Given the description of an element on the screen output the (x, y) to click on. 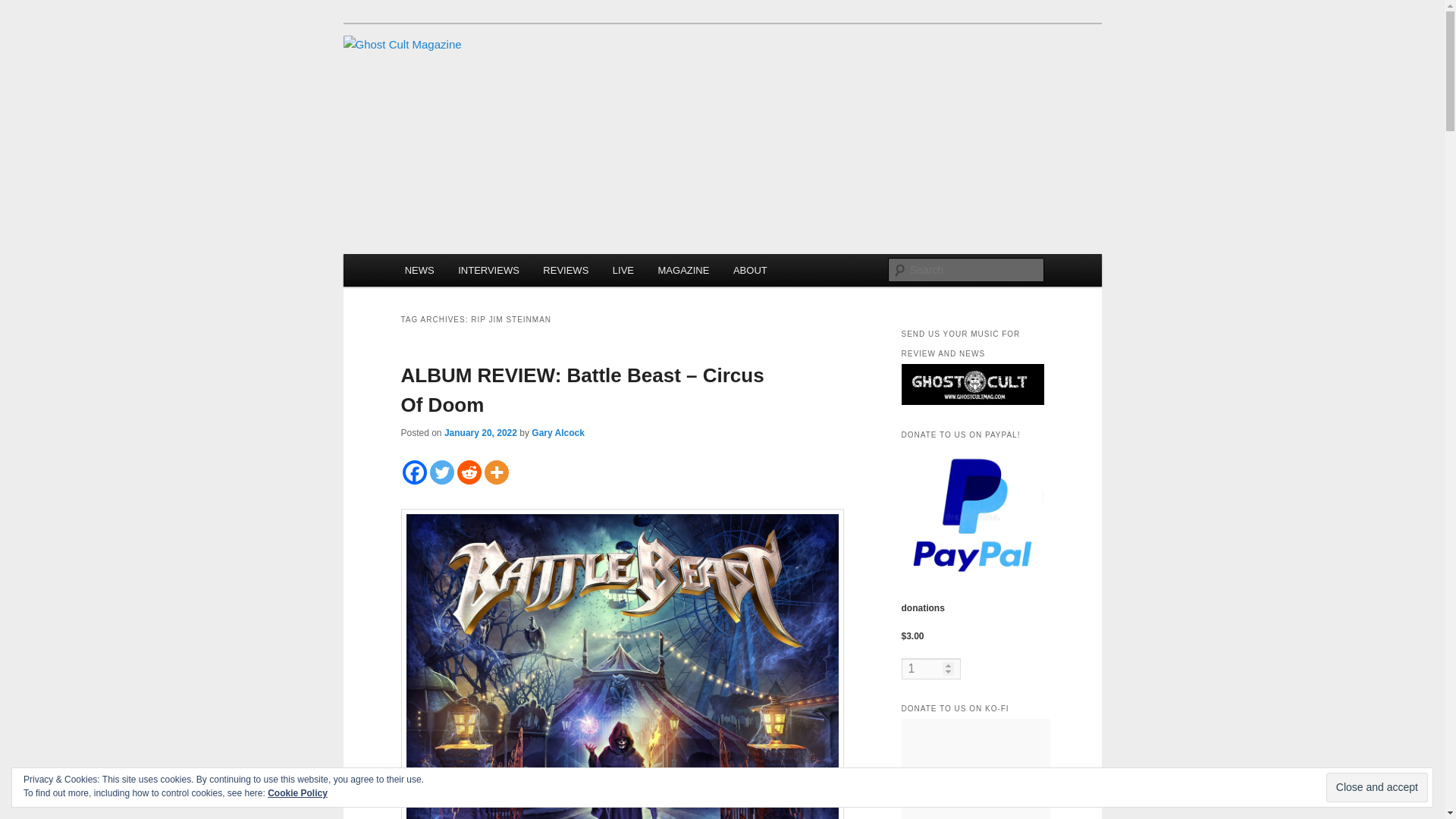
Facebook (413, 472)
1 (930, 668)
INTERVIEWS (488, 269)
LIVE (622, 269)
MAGAZINE (683, 269)
NEWS (419, 269)
More (495, 472)
View all posts by Gary Alcock (558, 432)
Features on Bands and Artists you should know (488, 269)
January 20, 2022 (480, 432)
5:57 am (480, 432)
Close and accept (1377, 787)
ABOUT (749, 269)
Ghost Cult Magazine (513, 90)
